Given the description of an element on the screen output the (x, y) to click on. 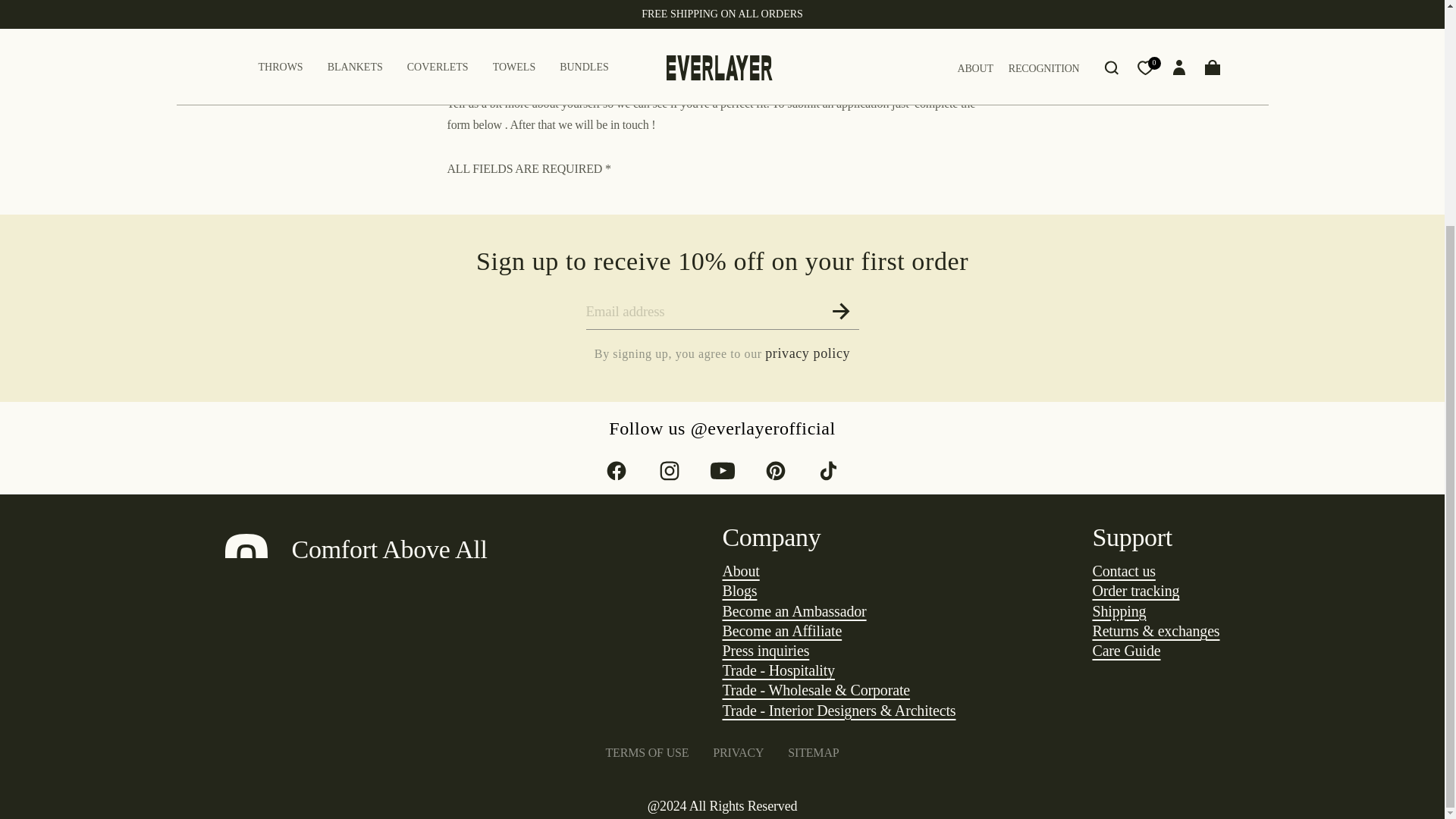
Privacy (807, 353)
